Given the description of an element on the screen output the (x, y) to click on. 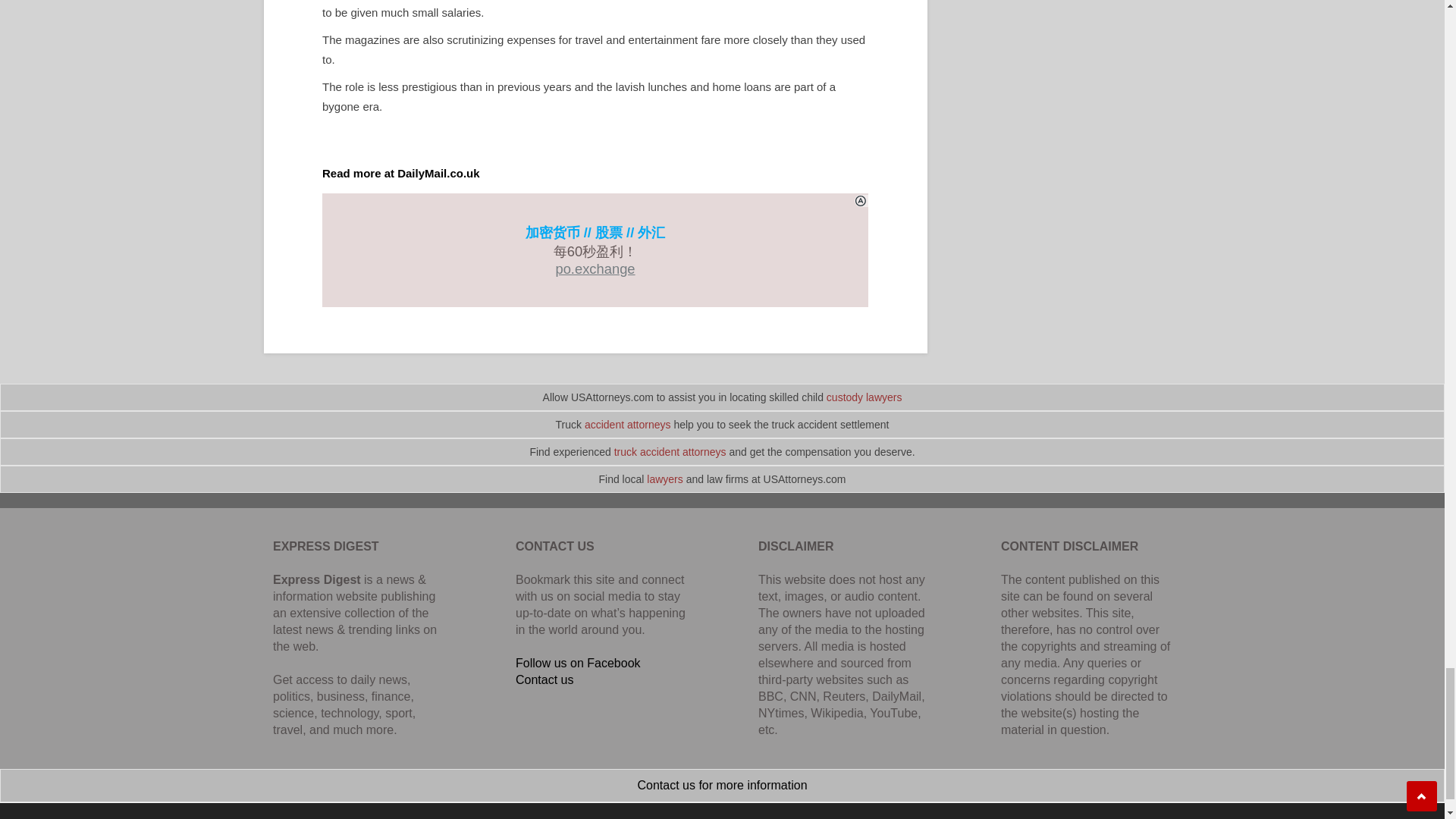
truck accident attorneys (670, 451)
Read more at DailyMail.co.uk (400, 173)
accident attorneys (628, 424)
lawyers (664, 479)
custody lawyers (864, 397)
